Given the description of an element on the screen output the (x, y) to click on. 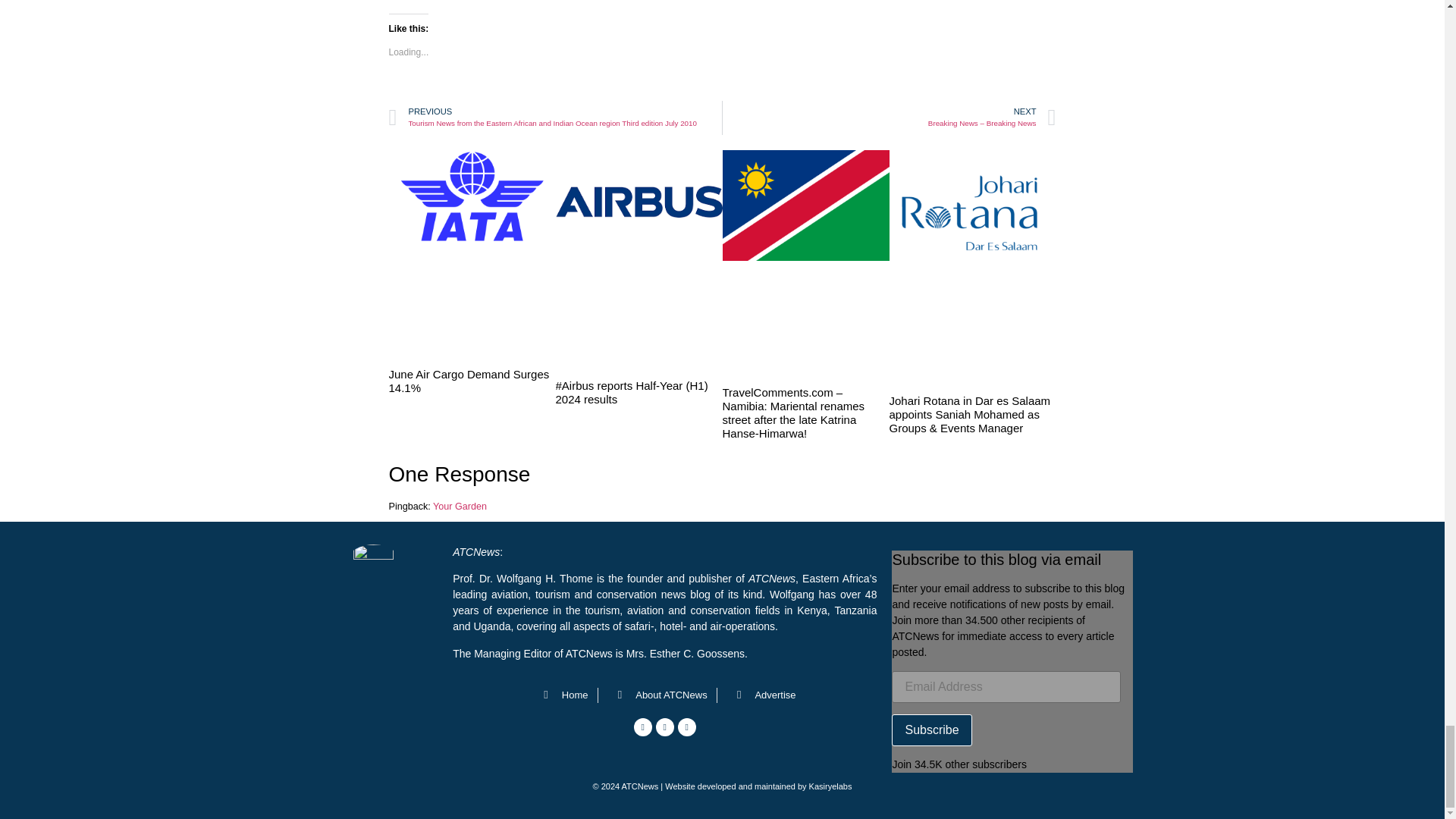
Subscribe (931, 730)
Your Garden (459, 506)
About ATCNews (656, 694)
asiryelabs (832, 786)
Advertise (761, 694)
Home (561, 694)
